Given the description of an element on the screen output the (x, y) to click on. 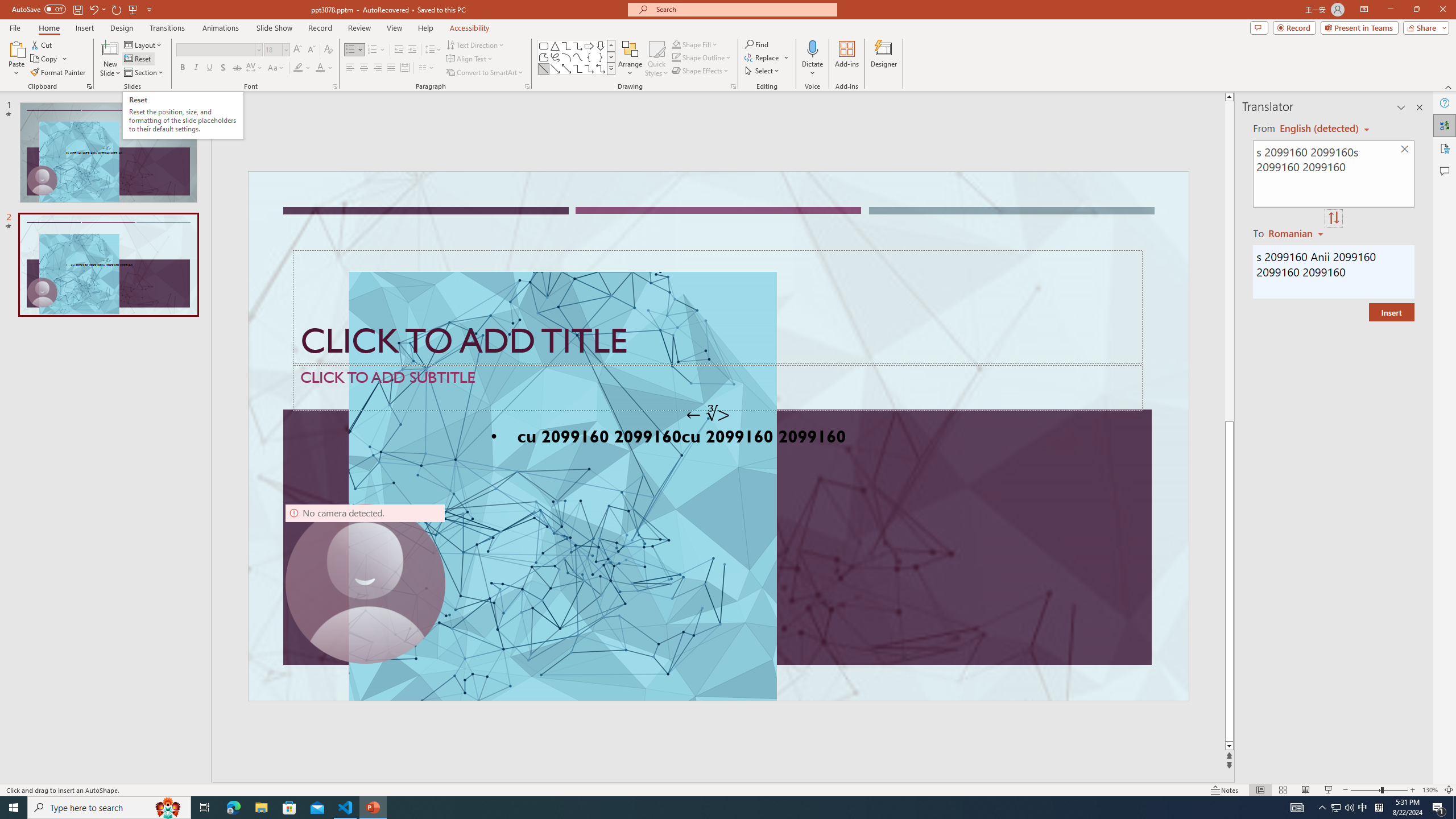
WebIDE (732, 114)
Ports - 26 forwarded ports (662, 533)
Edge (516, 46)
